Given the description of an element on the screen output the (x, y) to click on. 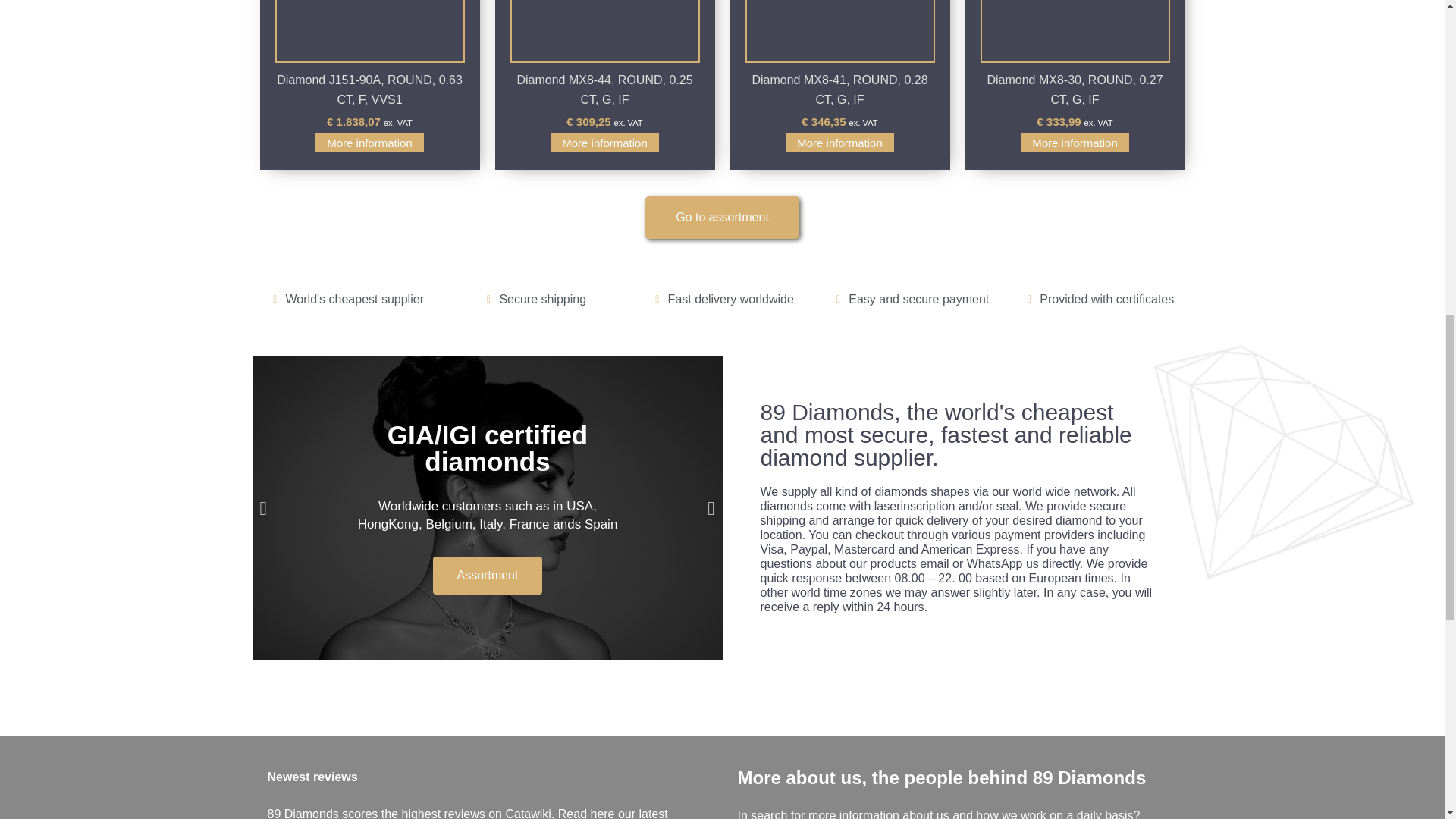
Diamond J151-90A, ROUND, 0.63 CT, F, VVS1 (369, 89)
Diamond MX8-44, ROUND, 0.25 CT, G, IF (604, 89)
More information (369, 142)
